Given the description of an element on the screen output the (x, y) to click on. 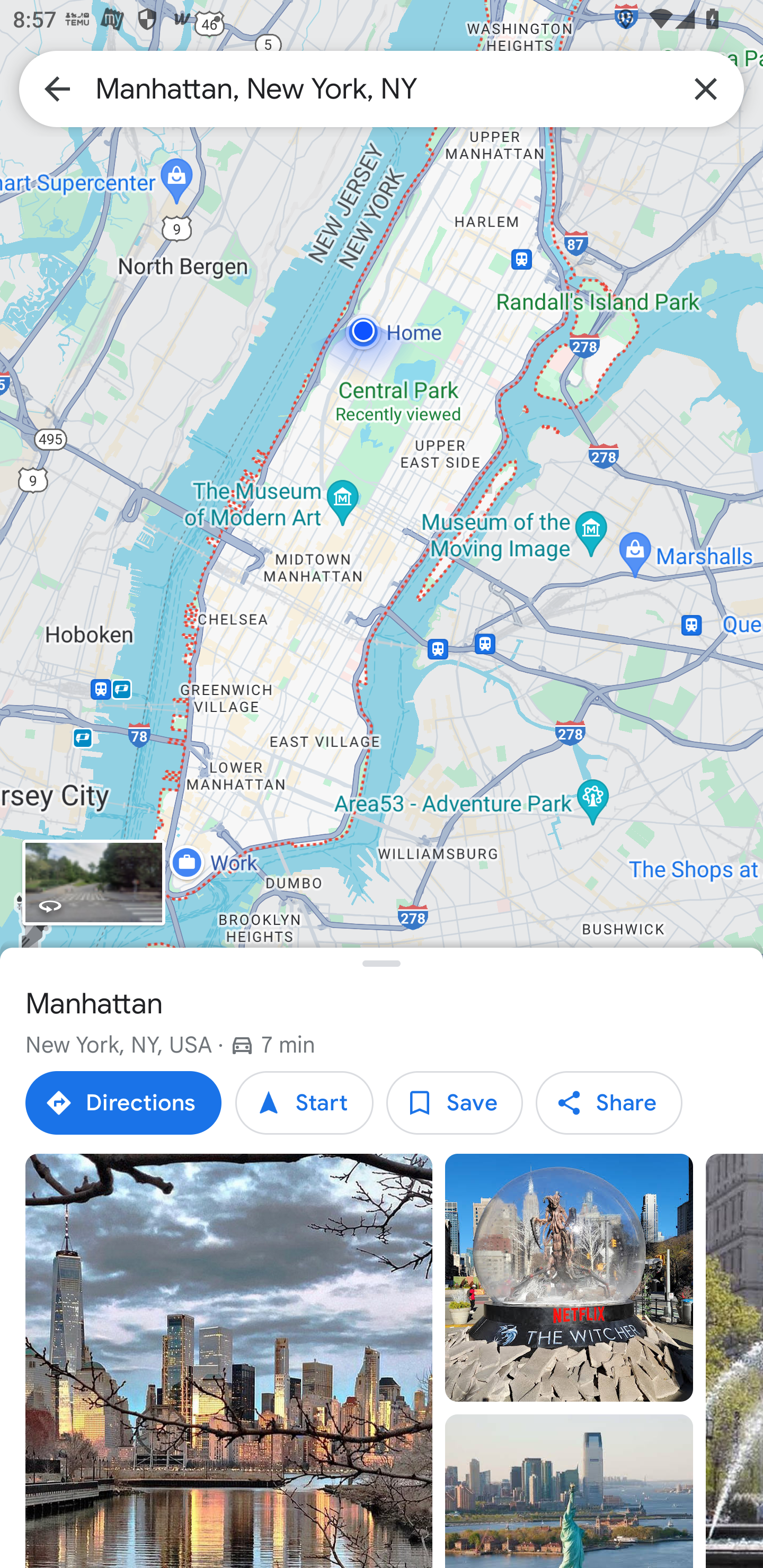
Back (57, 88)
Manhattan, New York, NY (381, 88)
Clear (705, 88)
View Street view imagery for Manhattan (93, 881)
Start Start Start (304, 1102)
Share Manhattan Share Share Manhattan (608, 1102)
Photo (228, 1361)
Photo (568, 1277)
Photo (568, 1491)
